Given the description of an element on the screen output the (x, y) to click on. 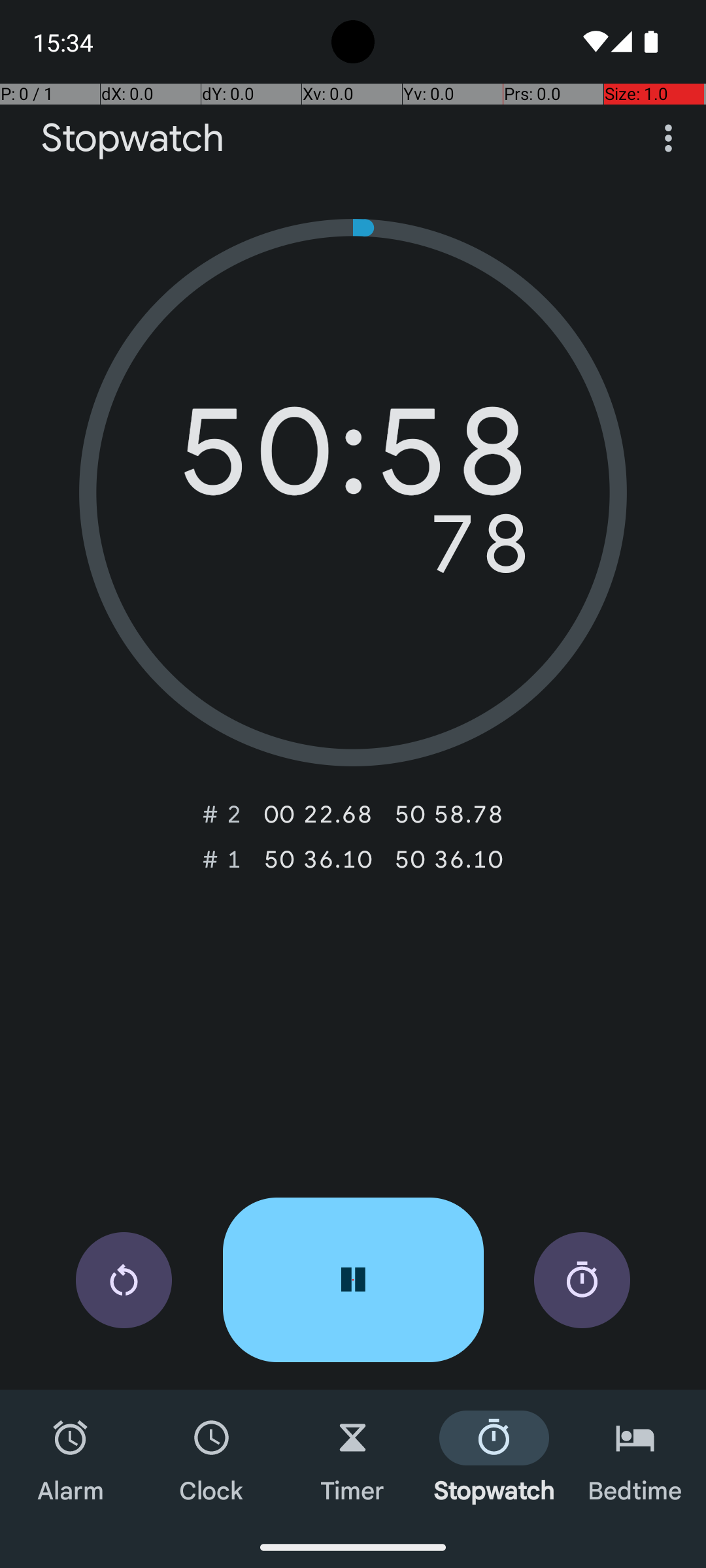
50:58 Element type: android.widget.TextView (352, 460)
# 2 Element type: android.widget.TextView (221, 814)
00‎ 22.68 Element type: android.widget.TextView (317, 814)
50‎ 58.78 Element type: android.widget.TextView (448, 814)
# 1 Element type: android.widget.TextView (221, 859)
50‎ 36.10 Element type: android.widget.TextView (317, 859)
Wifi signal full. Element type: android.widget.FrameLayout (593, 41)
